Given the description of an element on the screen output the (x, y) to click on. 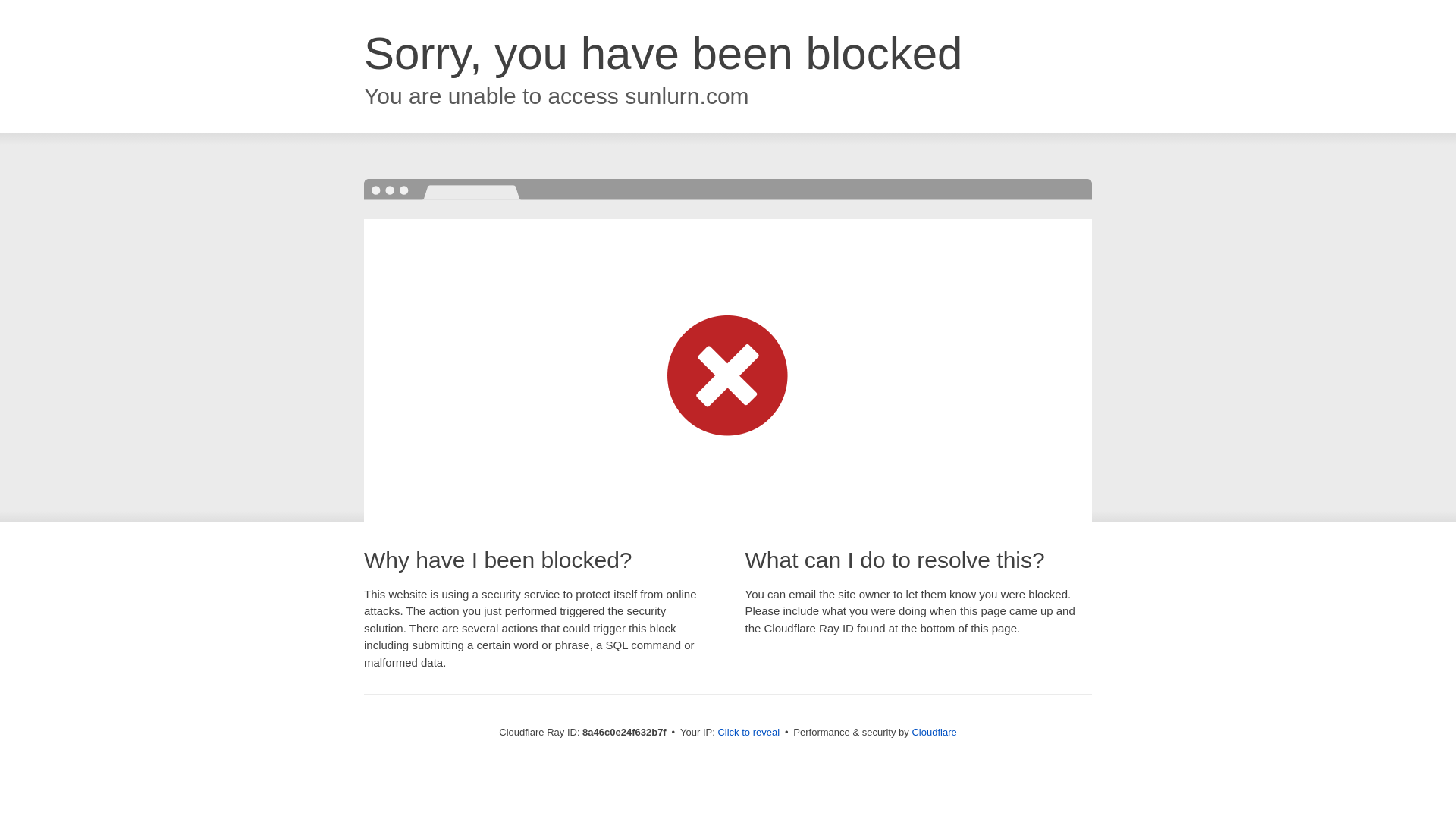
Click to reveal (747, 732)
Cloudflare (933, 731)
